Given the description of an element on the screen output the (x, y) to click on. 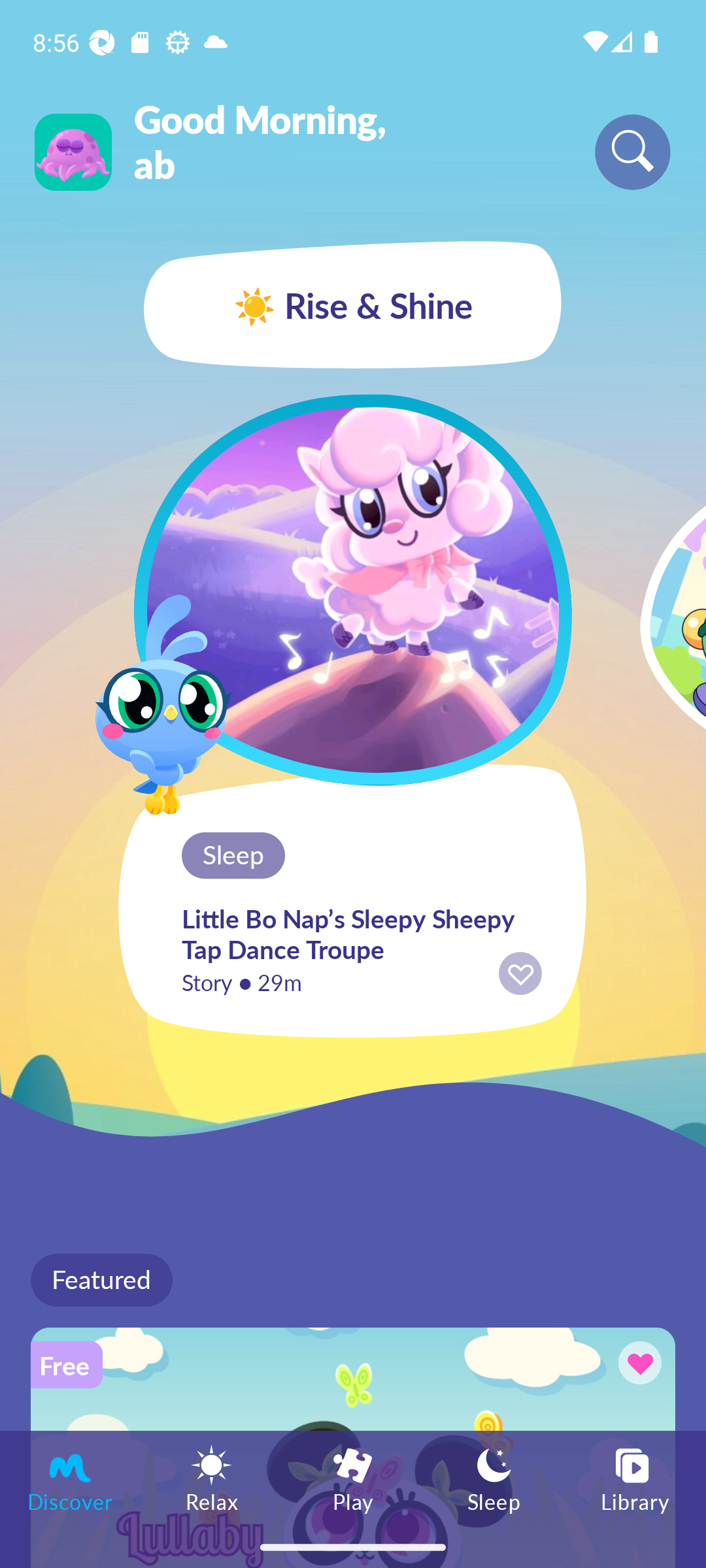
Search (632, 151)
action (520, 973)
Button (636, 1365)
Relax (211, 1478)
Play (352, 1478)
Sleep (493, 1478)
Library (635, 1478)
